Given the description of an element on the screen output the (x, y) to click on. 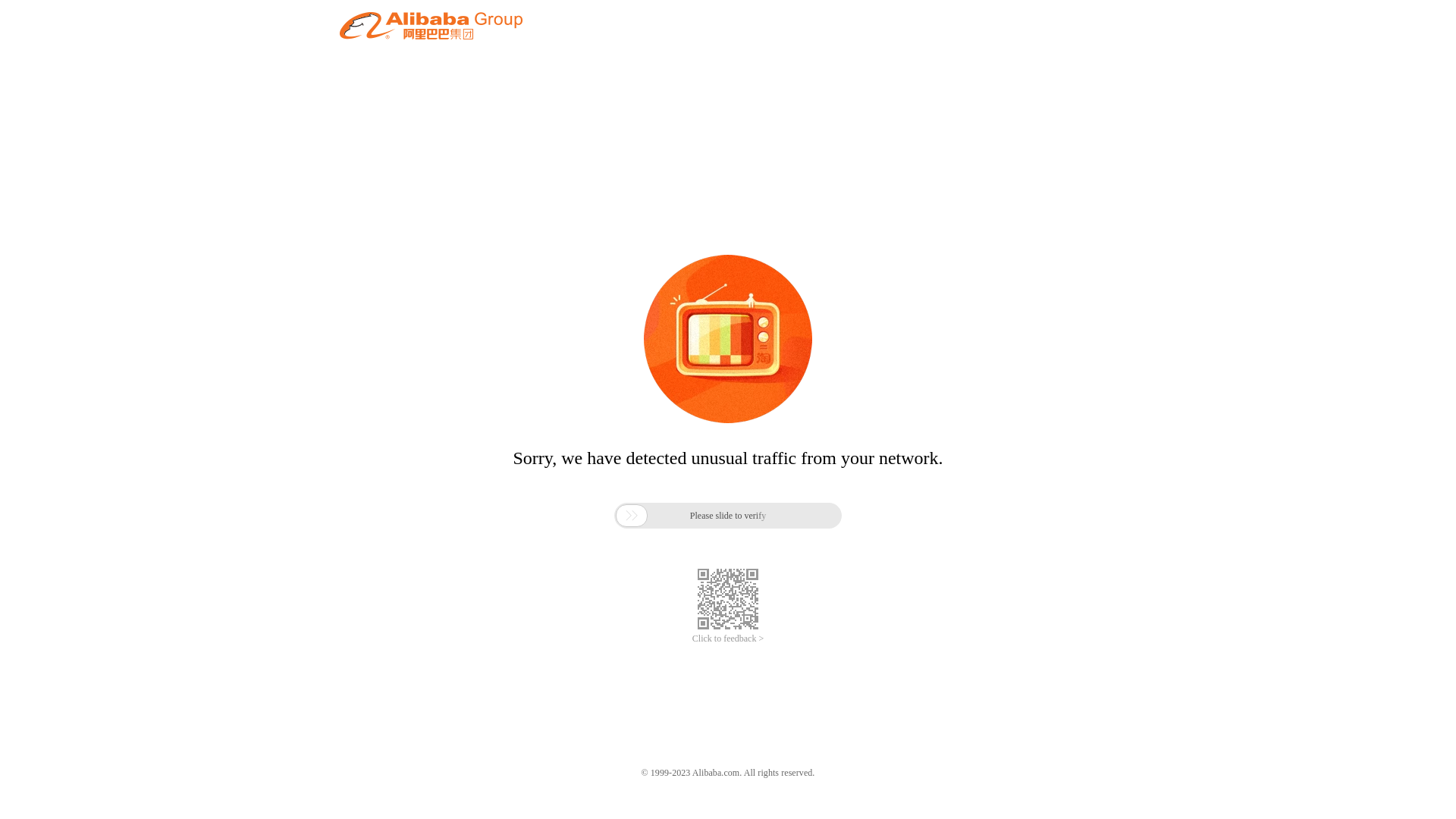
Click to feedback > Element type: text (727, 638)
